Given the description of an element on the screen output the (x, y) to click on. 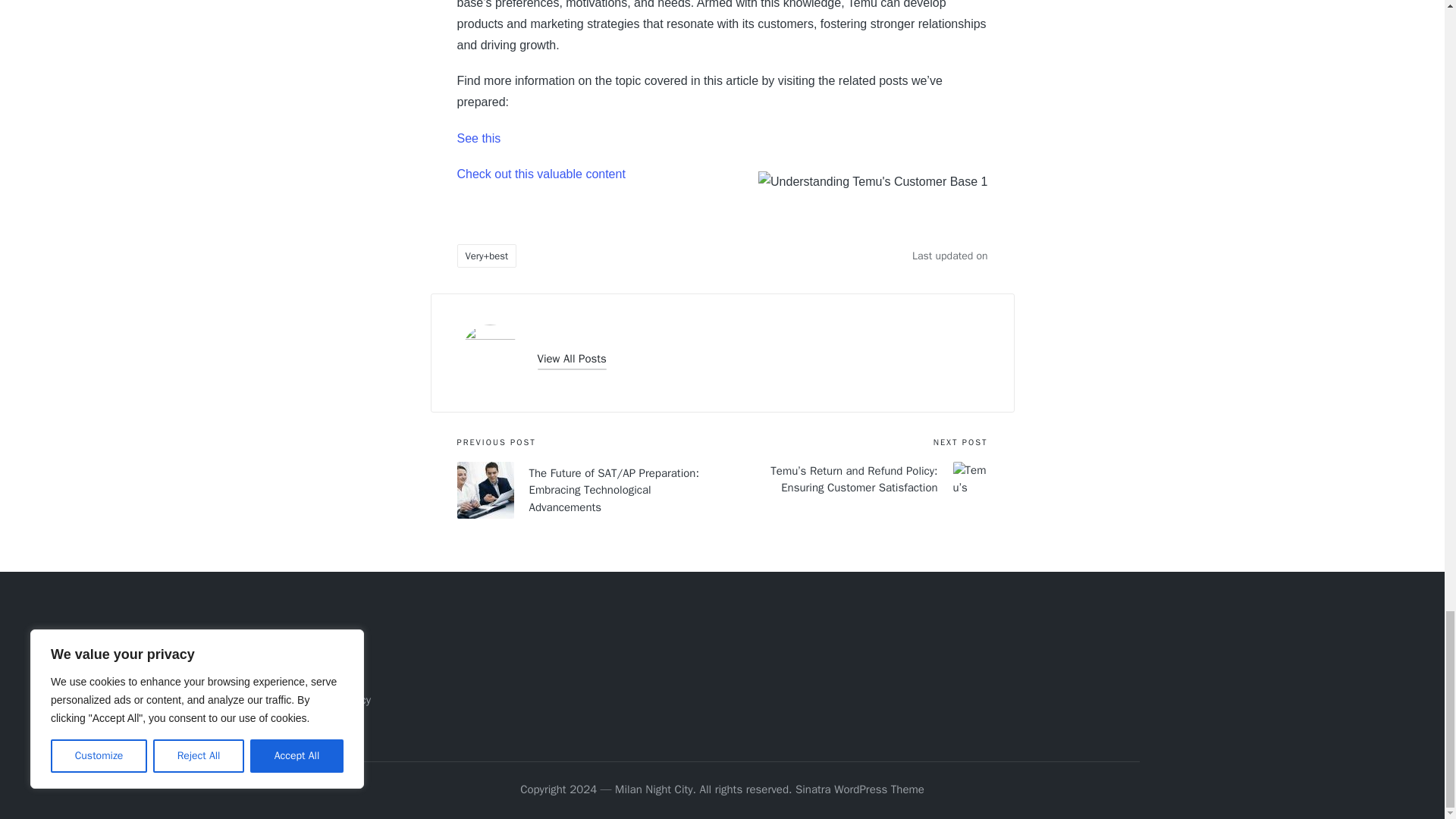
Sinatra WordPress Theme (859, 790)
Contact (323, 674)
View All Posts (571, 358)
Privacy Policy (337, 699)
Check out this valuable content (540, 173)
See this (478, 137)
About (318, 650)
